Given the description of an element on the screen output the (x, y) to click on. 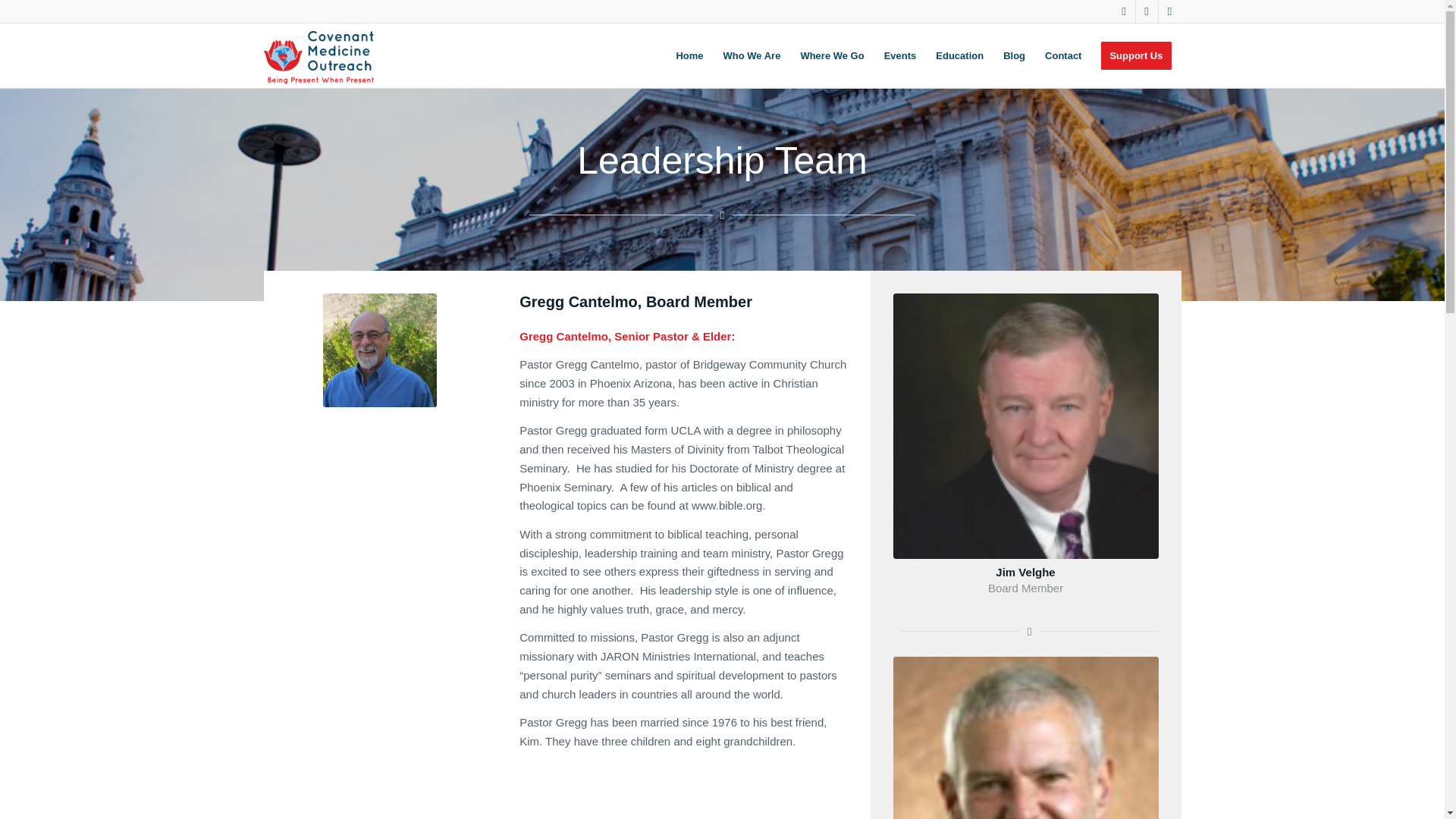
Education (959, 55)
Facebook (1146, 11)
Instagram (1169, 11)
Twitter (1124, 11)
Gregg-Cantelmo-8-12-small1-150x150 (379, 350)
Support Us (1135, 55)
Who We Are (751, 55)
Where We Go (831, 55)
